Given the description of an element on the screen output the (x, y) to click on. 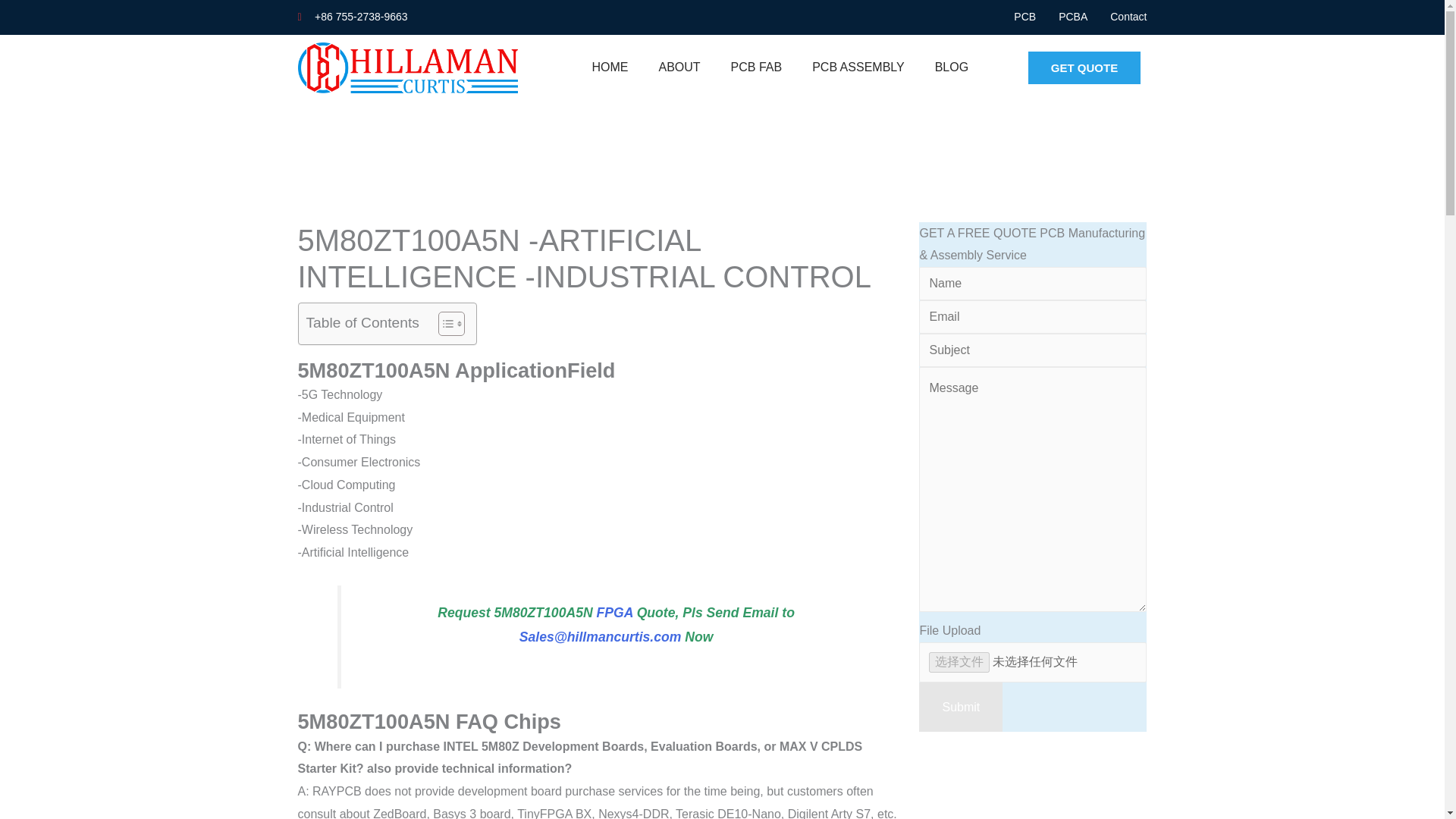
Submit (960, 707)
BLOG (952, 67)
HOME (609, 67)
PCB FAB (756, 67)
Submit (960, 707)
ABOUT (678, 67)
PCB (1024, 17)
PCB ASSEMBLY (858, 67)
GET QUOTE (1083, 67)
Contact (1128, 17)
